Given the description of an element on the screen output the (x, y) to click on. 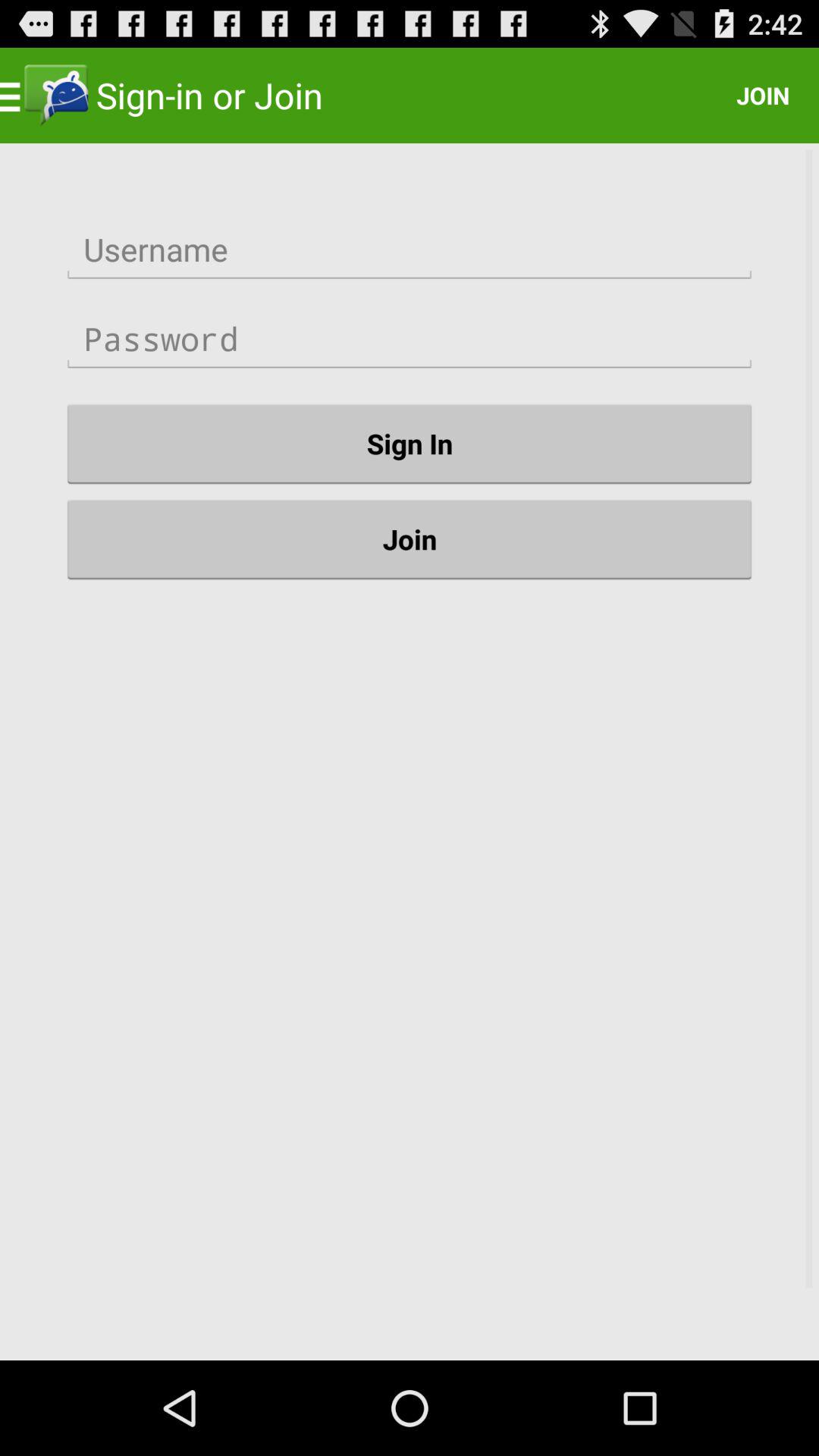
enter password (409, 338)
